Given the description of an element on the screen output the (x, y) to click on. 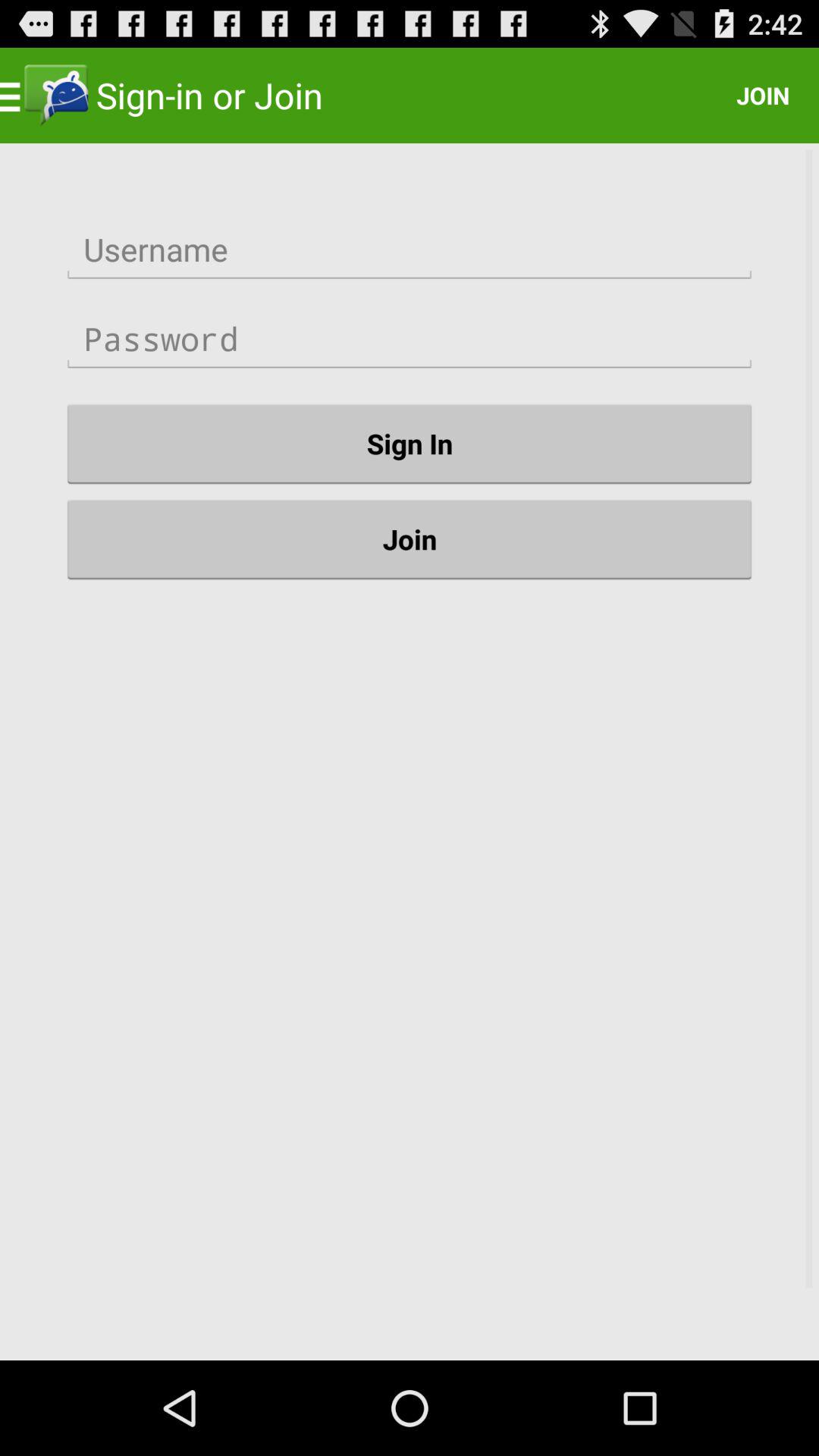
enter password (409, 338)
